Given the description of an element on the screen output the (x, y) to click on. 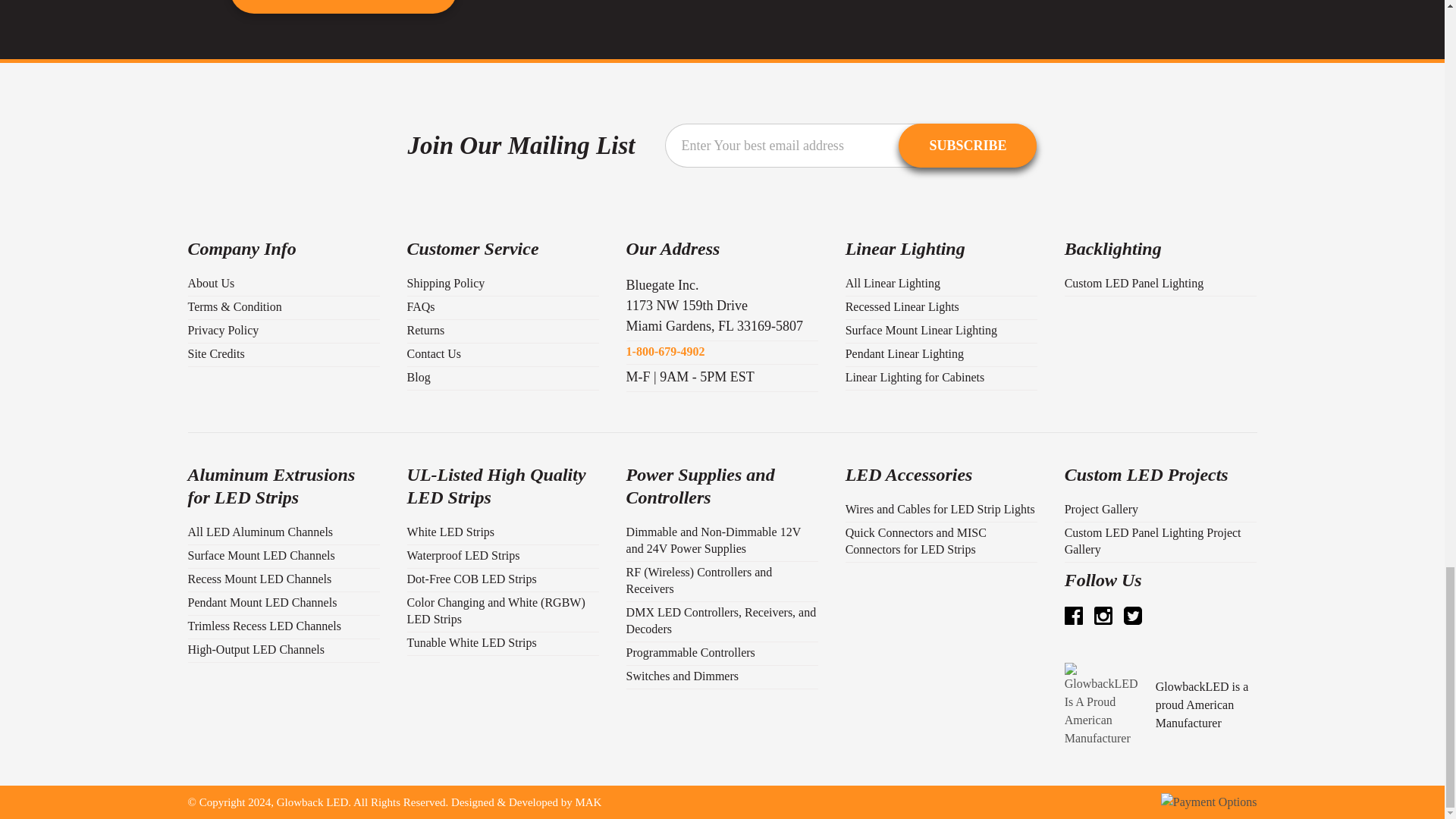
GlowbackLED Is A Proud American Manufacturer (1106, 704)
Payment Options (1208, 802)
Subscribe (967, 145)
